Given the description of an element on the screen output the (x, y) to click on. 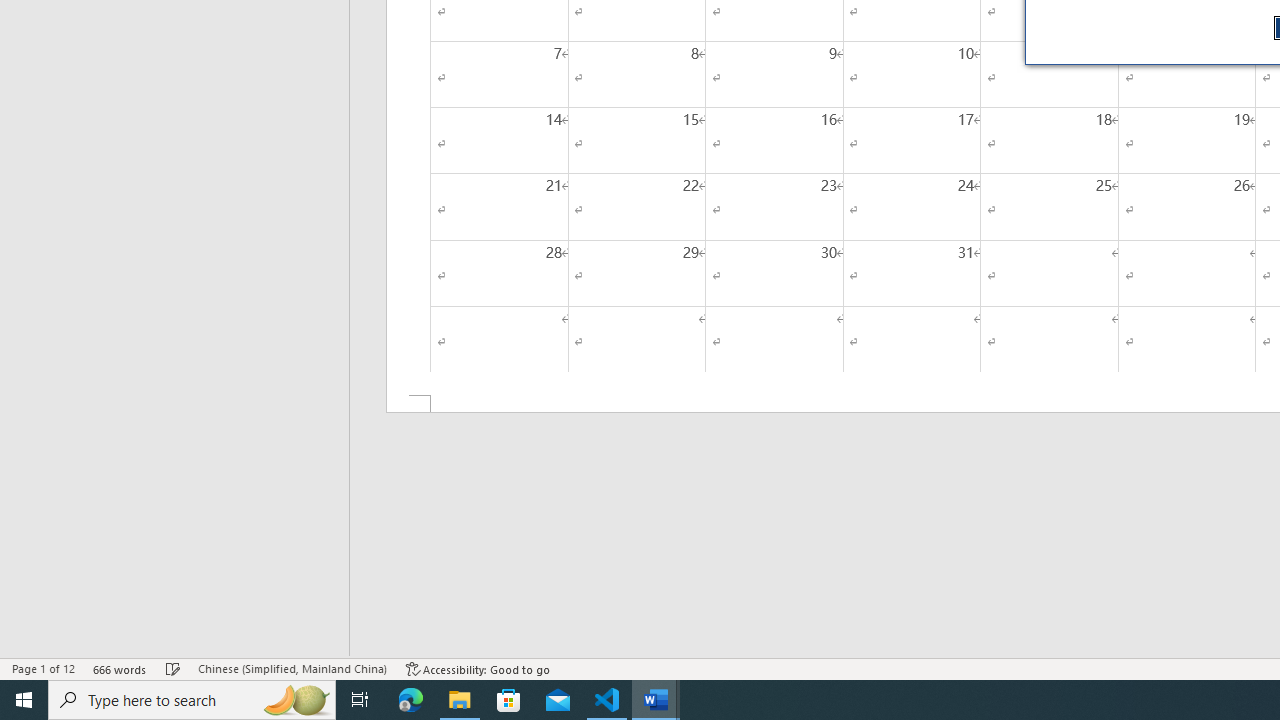
Page Number Page 1 of 12 (43, 668)
